Given the description of an element on the screen output the (x, y) to click on. 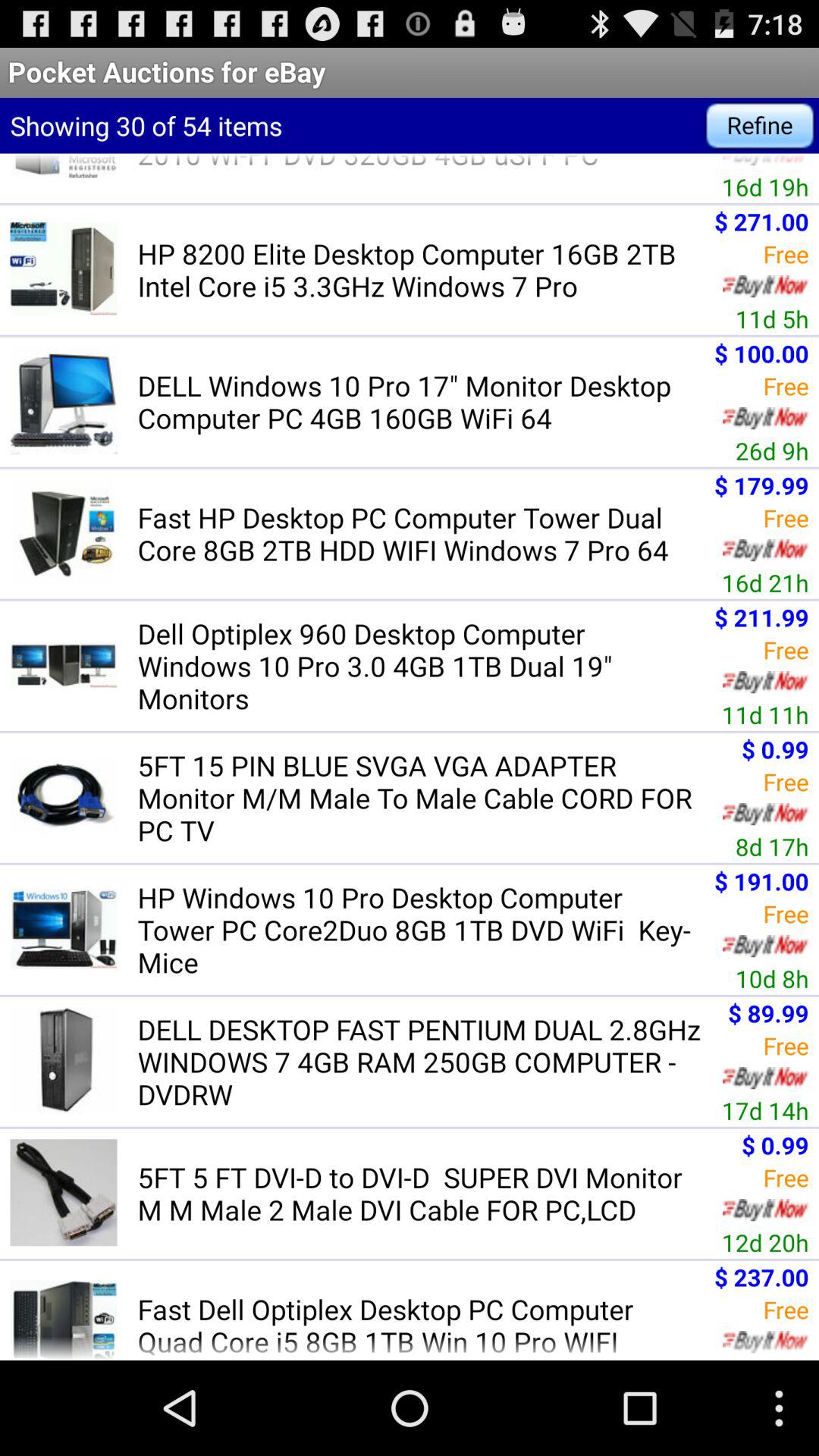
flip to the 26d 9h (771, 450)
